Given the description of an element on the screen output the (x, y) to click on. 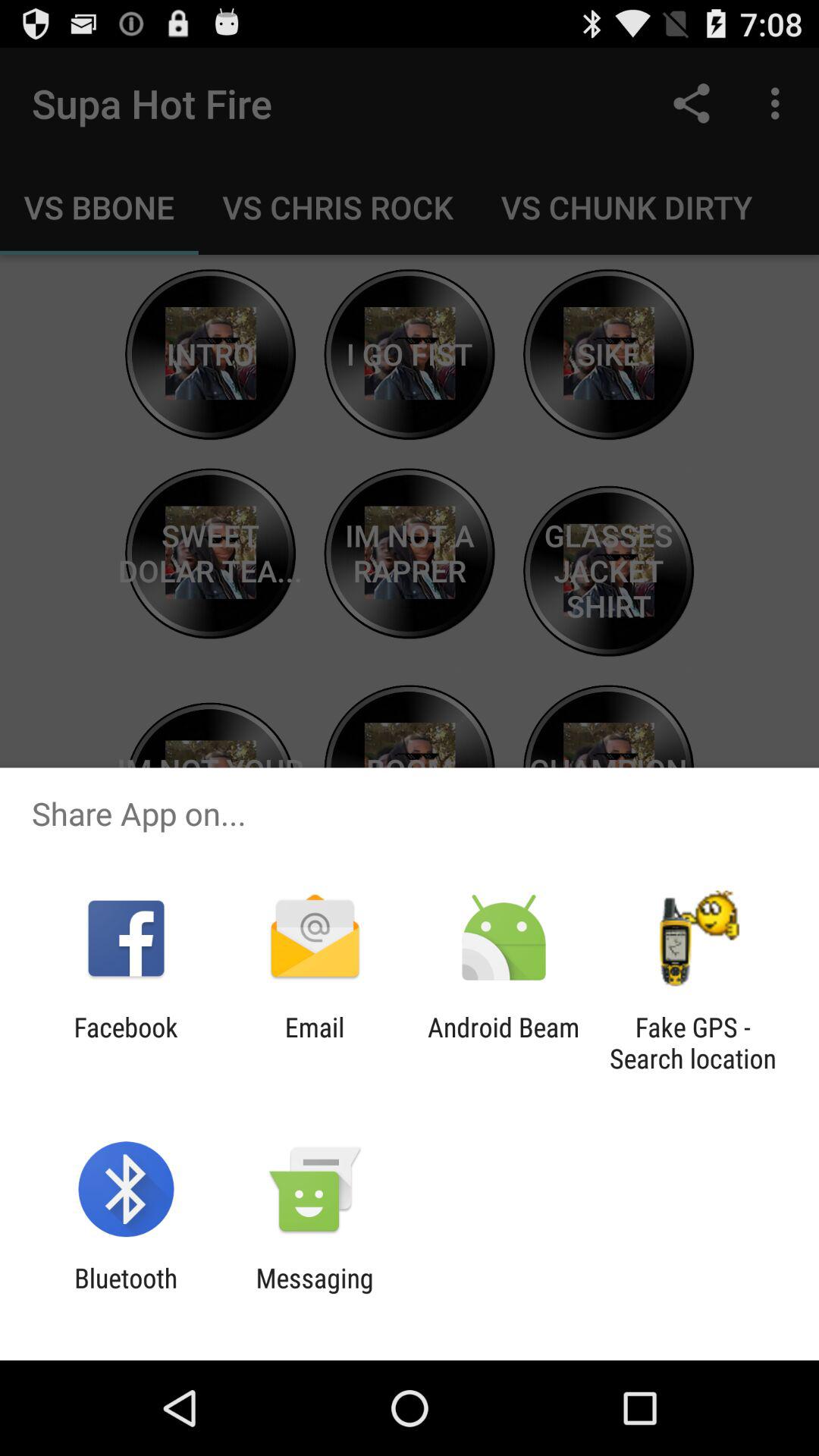
click messaging app (314, 1293)
